Given the description of an element on the screen output the (x, y) to click on. 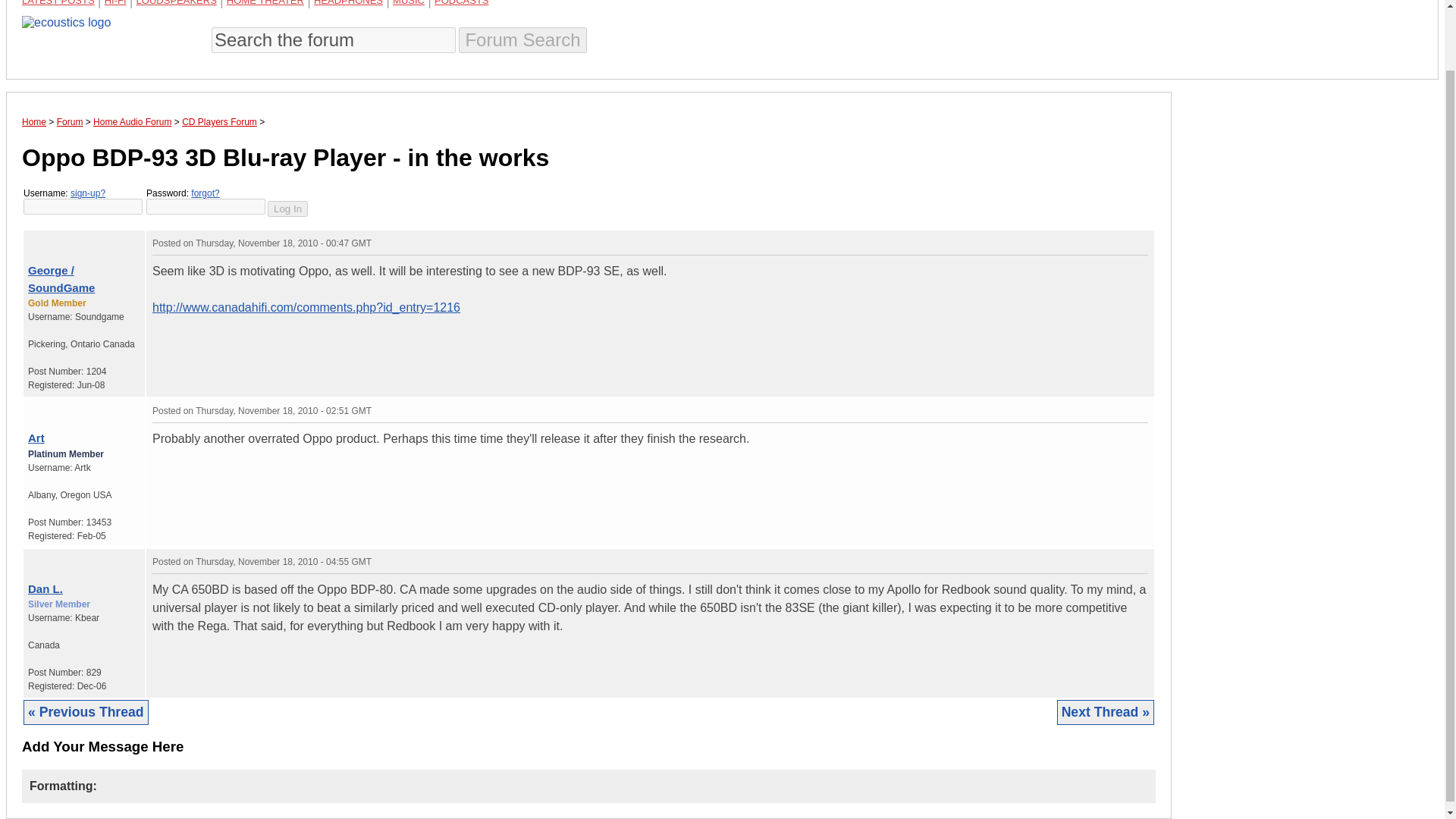
Forum (69, 122)
Log In (287, 208)
Search (522, 40)
PODCASTS (461, 2)
Home Audio Forum (132, 122)
link to this post (76, 407)
Art (36, 437)
sign-up? (86, 193)
link to this post (68, 558)
Forum Search (522, 40)
